Given the description of an element on the screen output the (x, y) to click on. 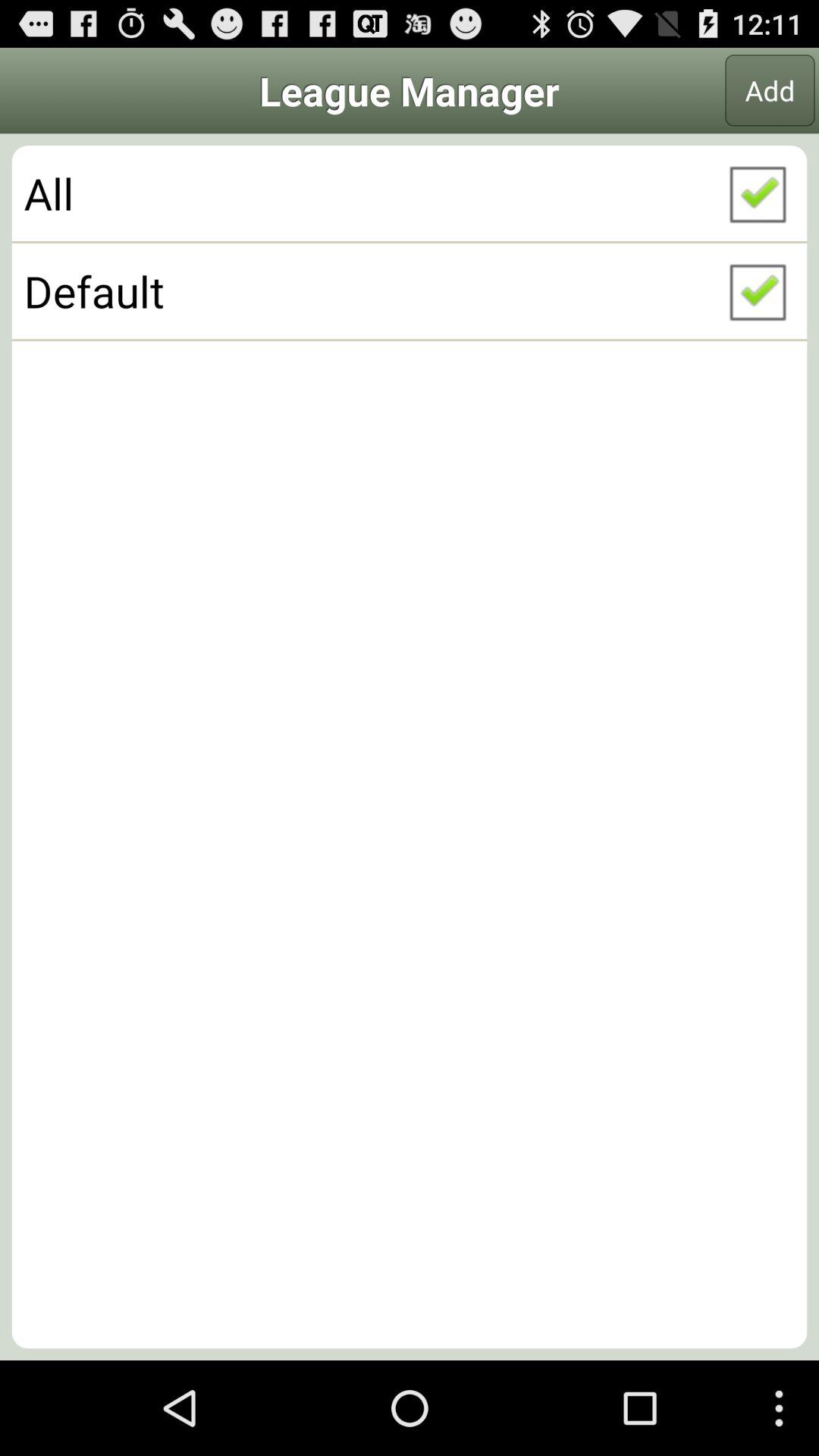
launch item to the right of the league manager icon (770, 90)
